Given the description of an element on the screen output the (x, y) to click on. 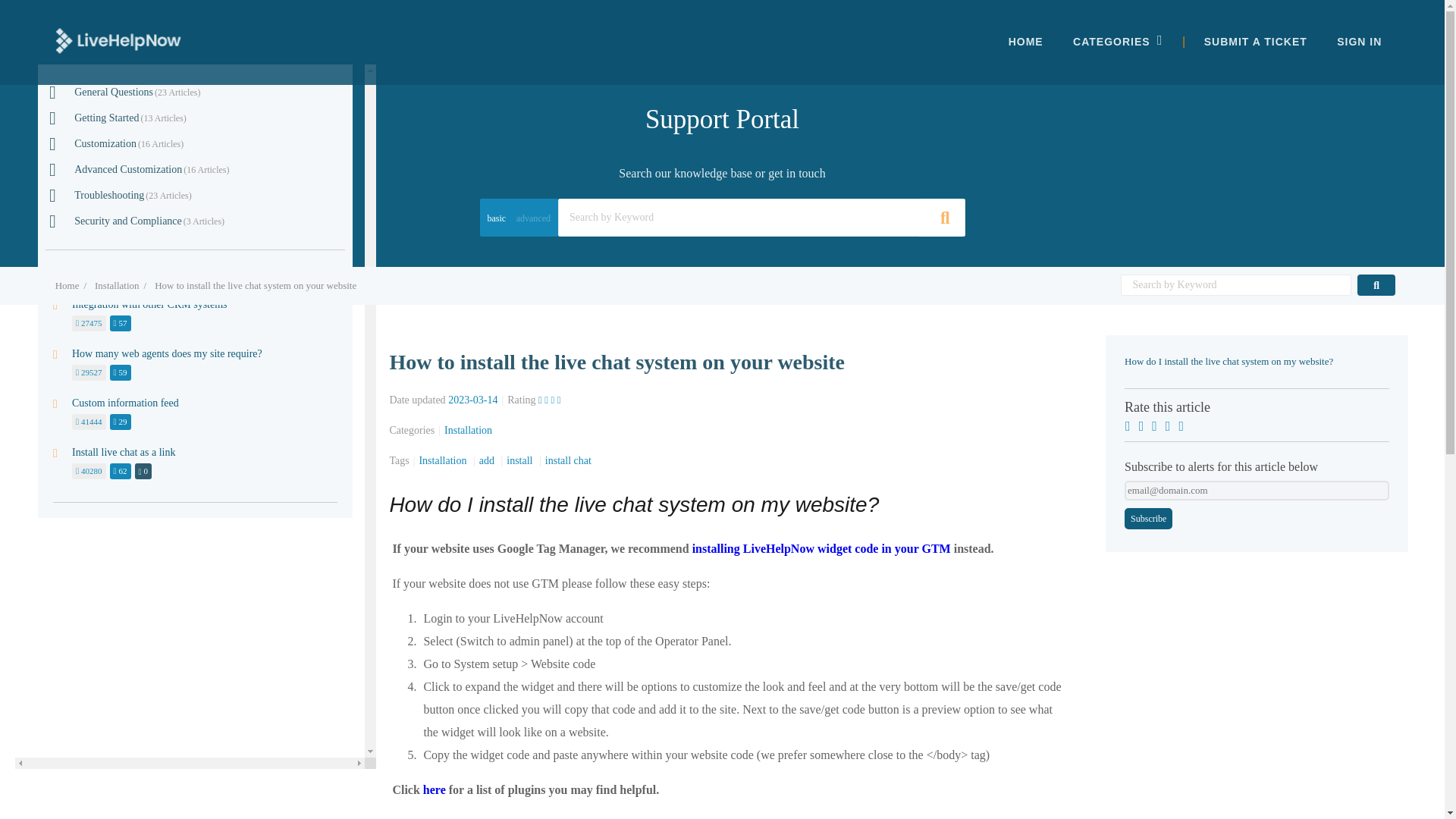
HOME (1025, 41)
Search (722, 171)
install (520, 460)
CATEGORIES (1111, 41)
Search (722, 131)
Search button (940, 217)
How to install the live chat system on your website (255, 285)
Installation (116, 285)
Installation (468, 430)
Support Center (117, 41)
